Given the description of an element on the screen output the (x, y) to click on. 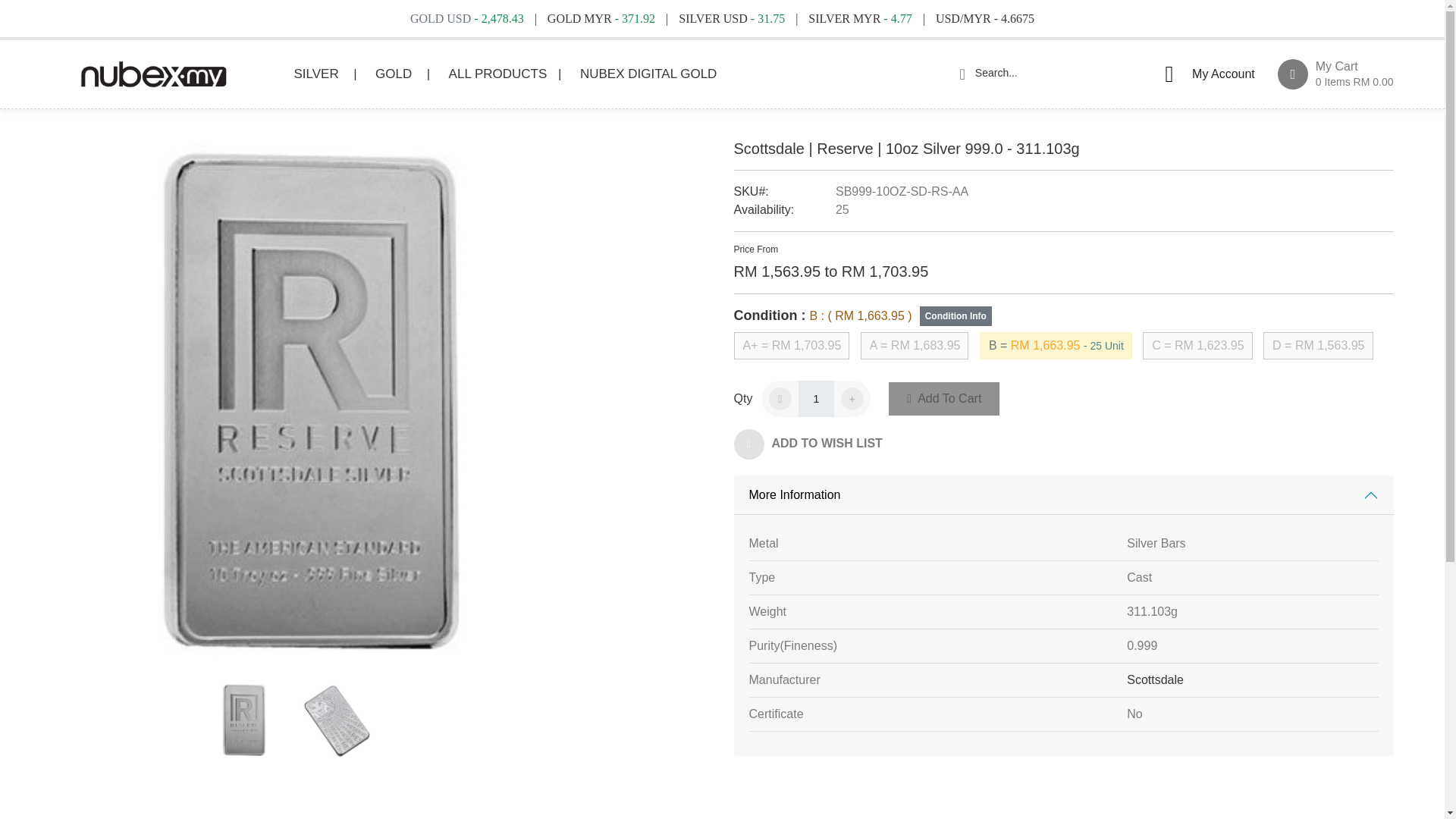
SILVER (325, 74)
NUBEX DIGITAL GOLD (649, 74)
Add to Wish List (1335, 73)
More Information (815, 446)
Add To Cart (1063, 495)
ALL PRODUCTS (943, 398)
GOLD (505, 74)
Scottsdale (402, 74)
ADD TO WISH LIST (1154, 679)
Nubex Malaysia (815, 446)
My Account (152, 74)
1 (1204, 73)
